Given the description of an element on the screen output the (x, y) to click on. 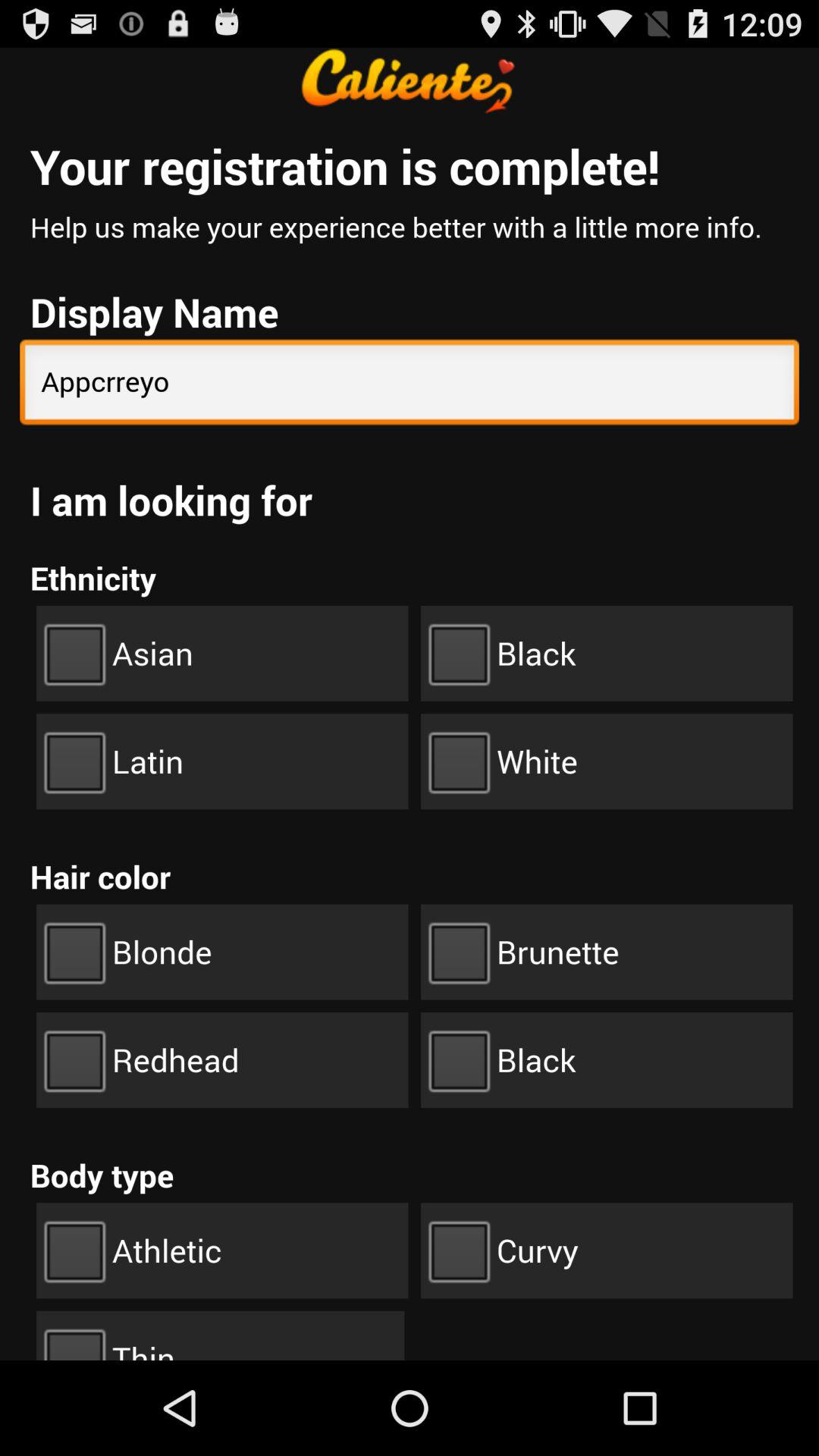
click the check box latin (222, 761)
click the check box  block (606, 653)
click on the button black below brunette (606, 1059)
select the first text field on the web page (409, 385)
